Given the description of an element on the screen output the (x, y) to click on. 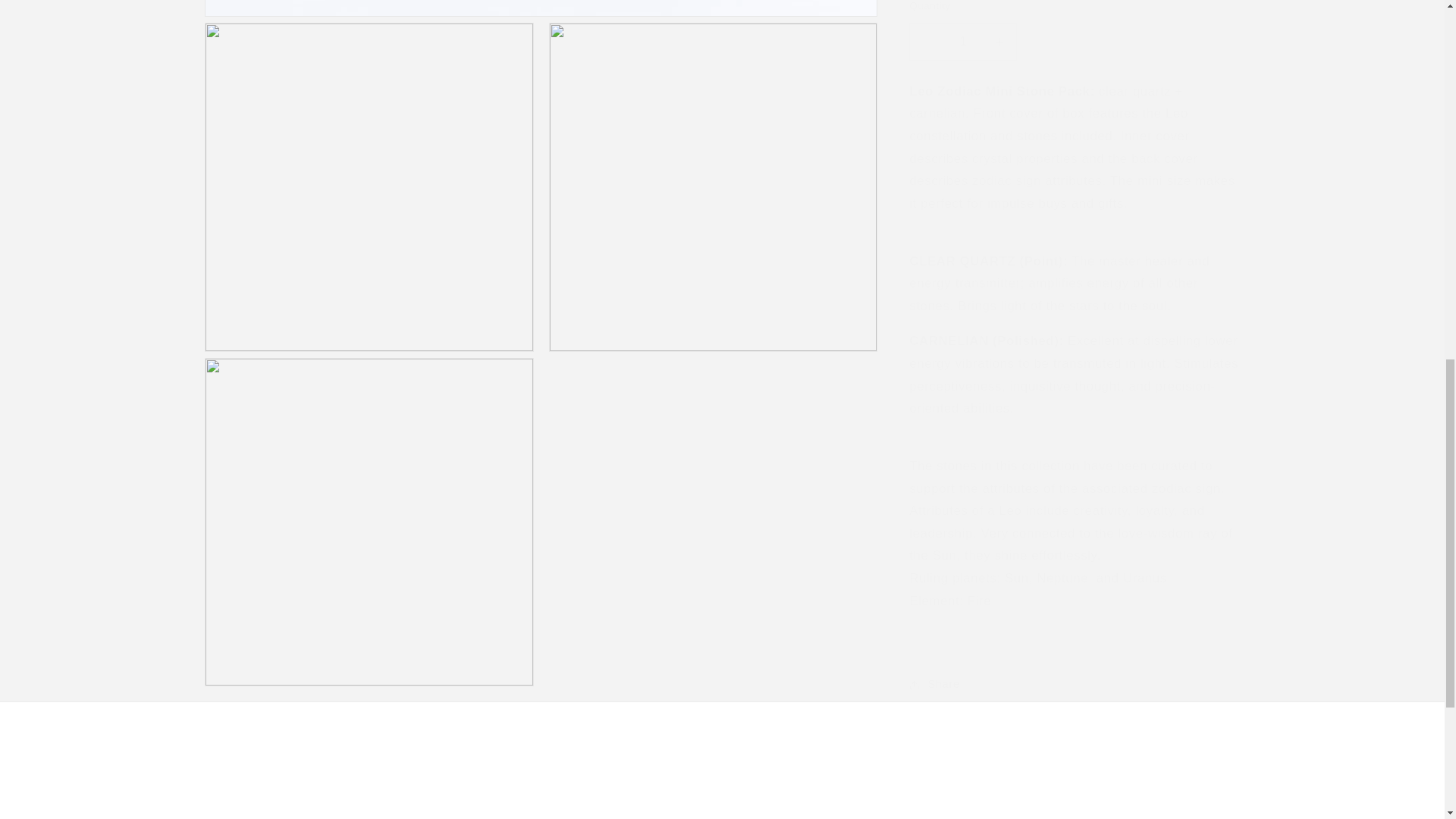
Open media 2 in modal (369, 170)
Open media 3 in modal (712, 170)
Open media 4 in modal (372, 793)
